Given the description of an element on the screen output the (x, y) to click on. 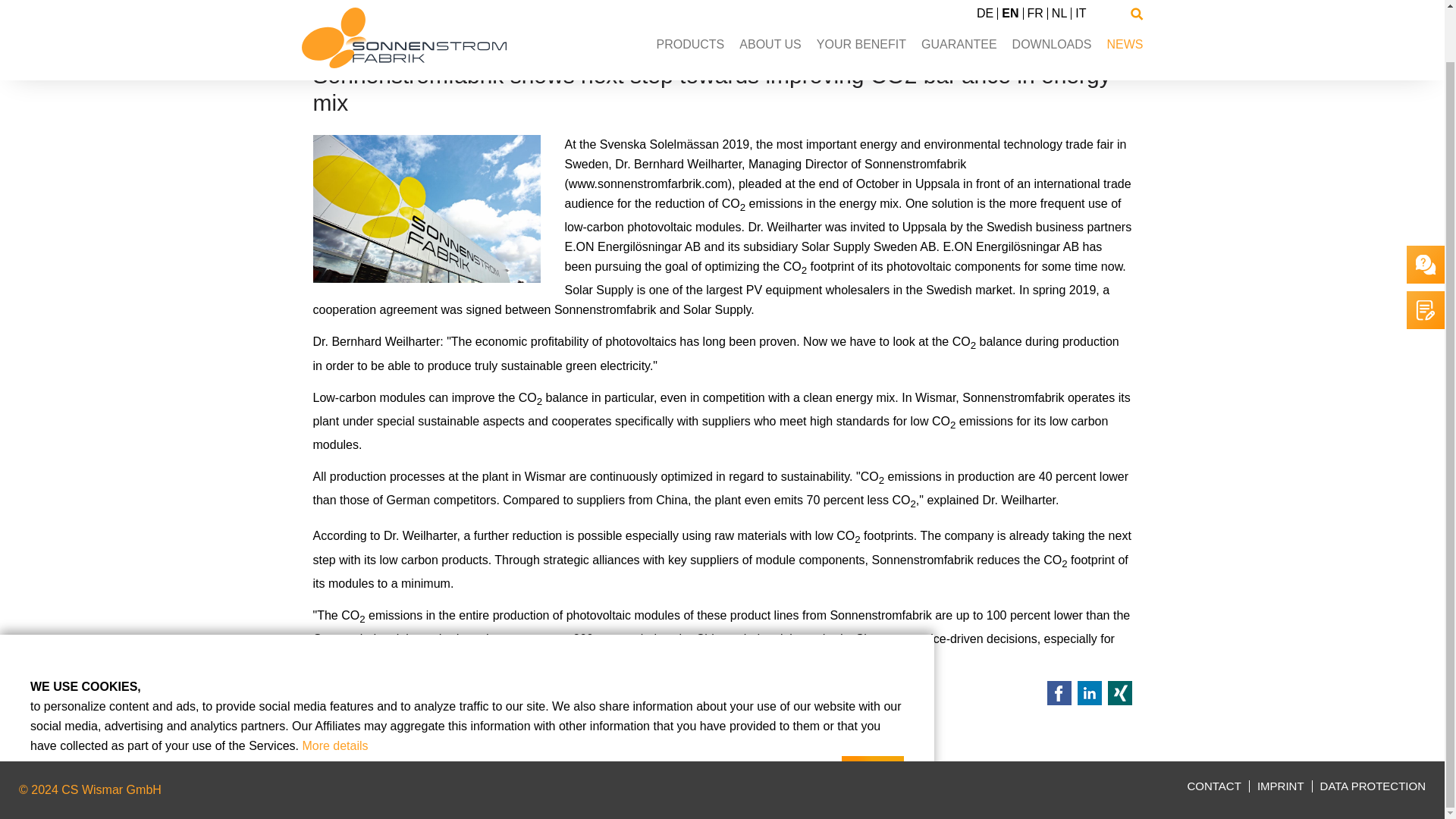
PRODUCTS (690, 3)
News (1124, 3)
News (395, 33)
ABOUT US (770, 3)
About us (770, 3)
DOWNLOADS (1051, 3)
GUARANTEE (959, 3)
NEWS (1124, 3)
LinkedIn (1088, 692)
Products (690, 3)
